Given the description of an element on the screen output the (x, y) to click on. 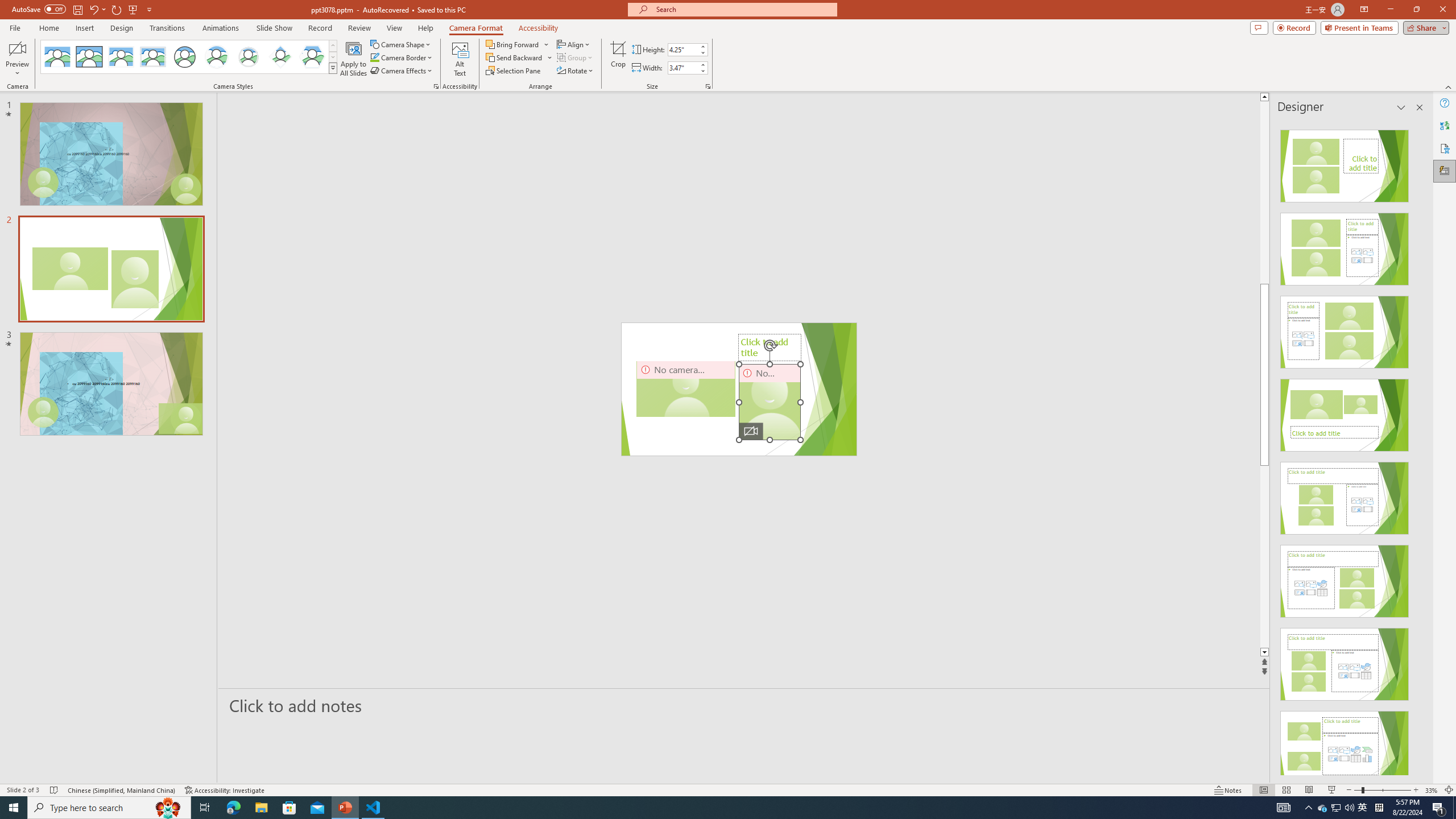
No Style (57, 56)
Camera 3, No camera detected. (685, 388)
Selection Pane... (513, 69)
Camera Shape (400, 44)
